Given the description of an element on the screen output the (x, y) to click on. 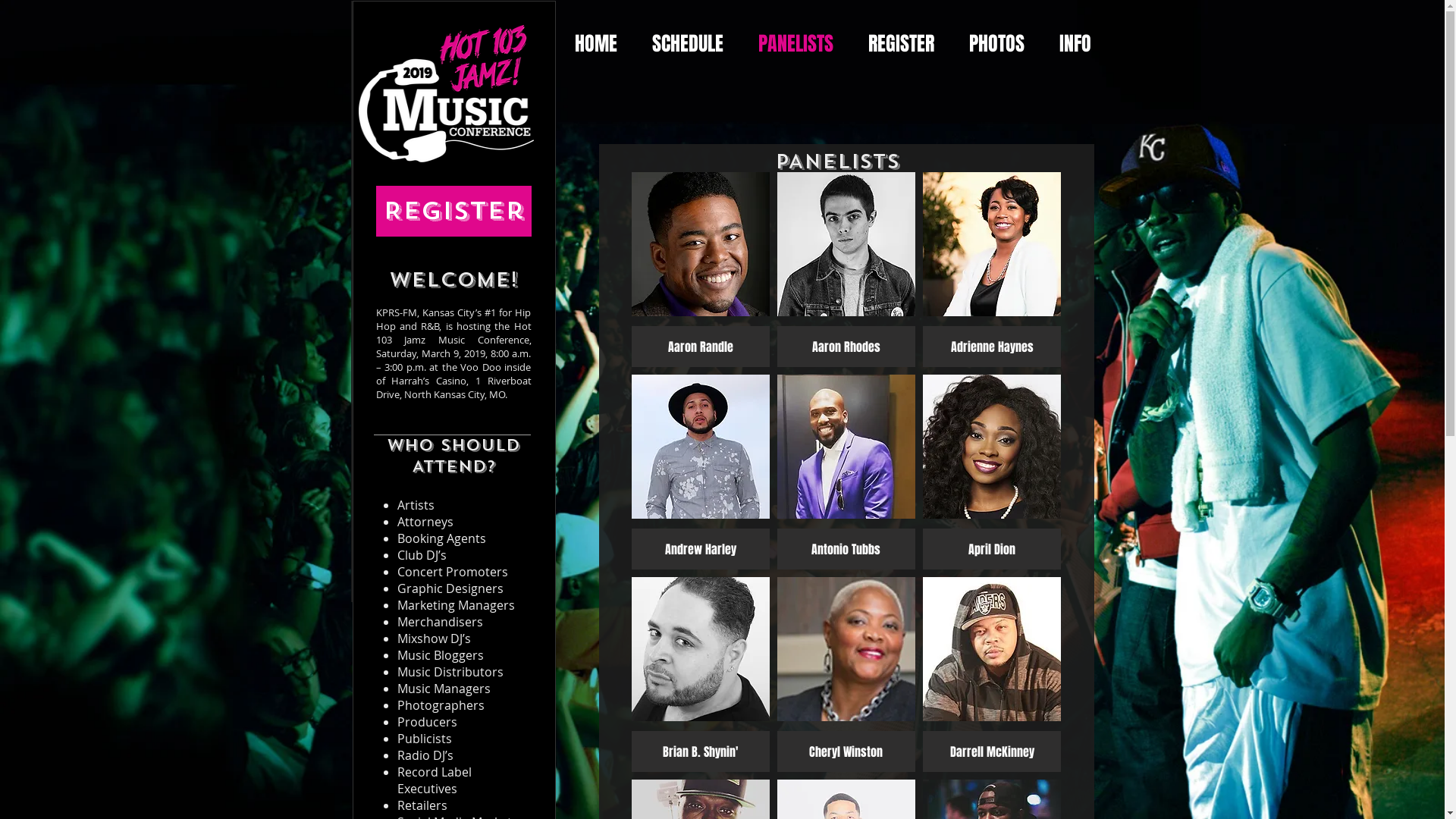
SCHEDULE Element type: text (693, 41)
Register Element type: text (453, 210)
HOME Element type: text (601, 41)
REGISTER Element type: text (906, 41)
PANELISTS Element type: text (801, 41)
